Given the description of an element on the screen output the (x, y) to click on. 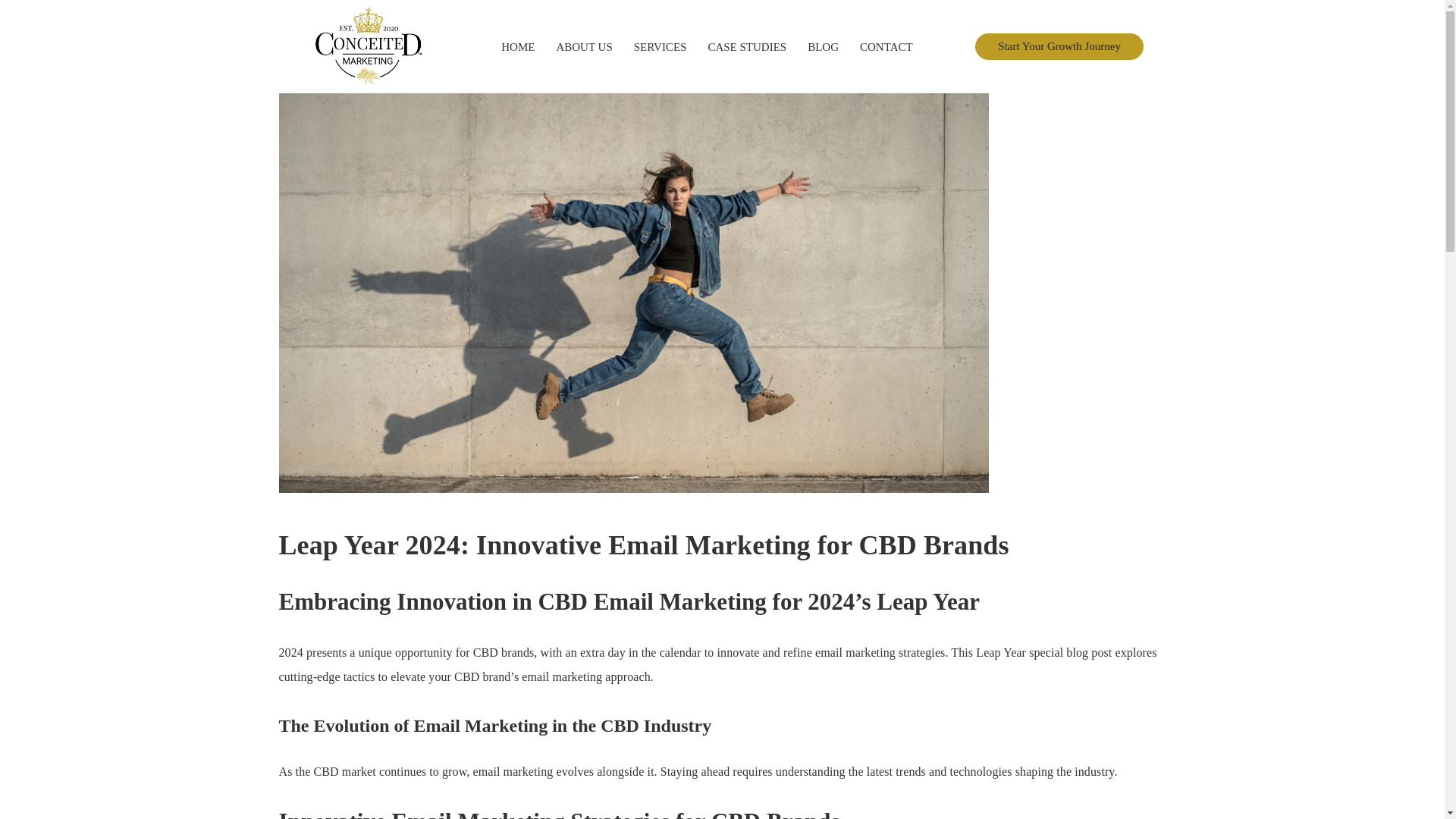
Home (517, 46)
CASE STUDIES (746, 46)
Case Studies (746, 46)
Services (660, 46)
Contact (886, 46)
BLOG (823, 46)
CONTACT (886, 46)
Start Your Growth Journey (1058, 46)
About Us (583, 46)
SERVICES (660, 46)
